Given the description of an element on the screen output the (x, y) to click on. 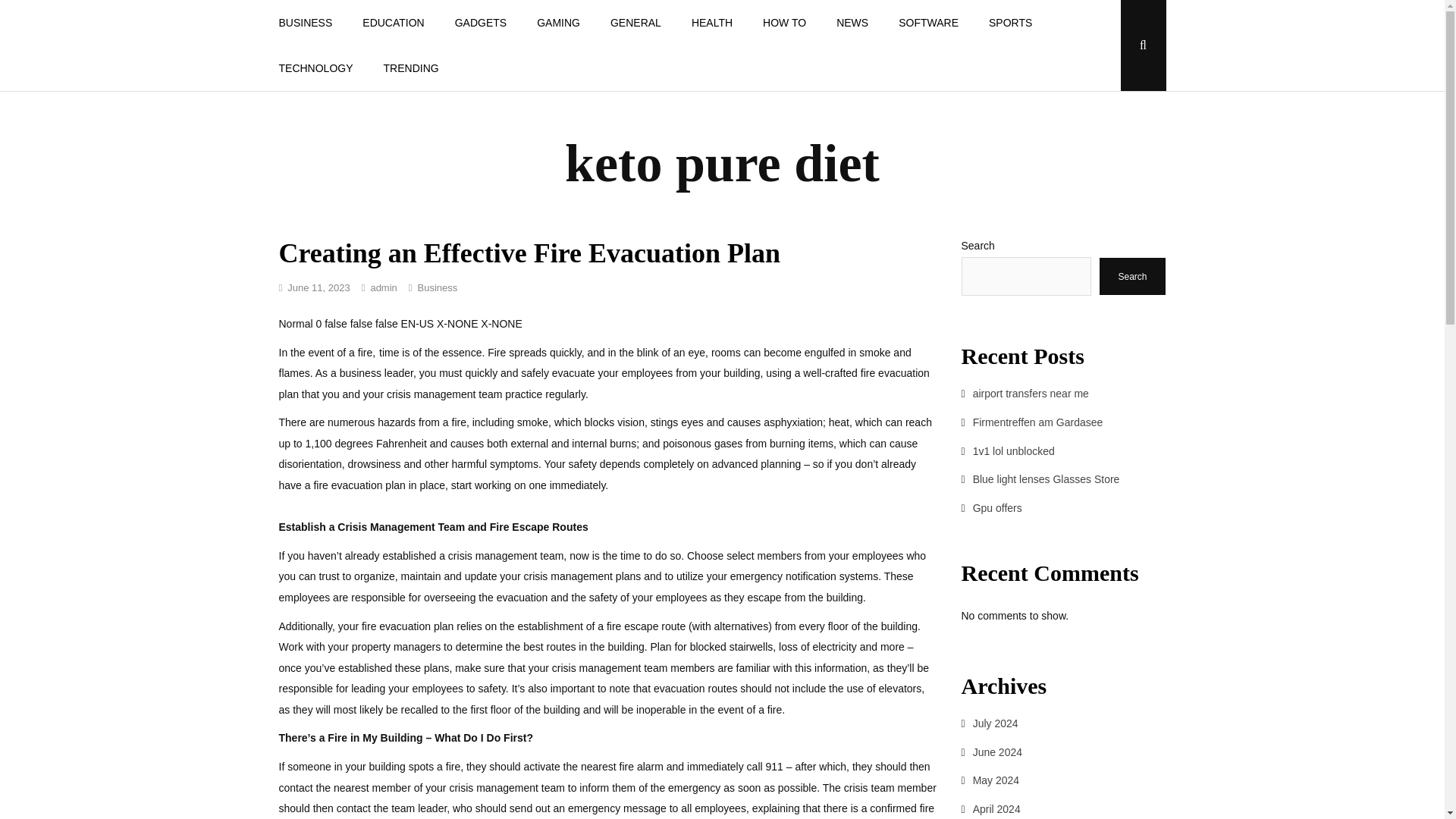
TECHNOLOGY (315, 67)
Search (1132, 276)
EDUCATION (393, 22)
admin (382, 287)
SPORTS (1010, 22)
HOW TO (784, 22)
GENERAL (636, 22)
GADGETS (480, 22)
July 2024 (994, 723)
June 2024 (997, 752)
June 11, 2023 (317, 287)
TRENDING (411, 67)
1v1 lol unblocked (1013, 450)
keto pure diet (721, 163)
May 2024 (995, 779)
